Given the description of an element on the screen output the (x, y) to click on. 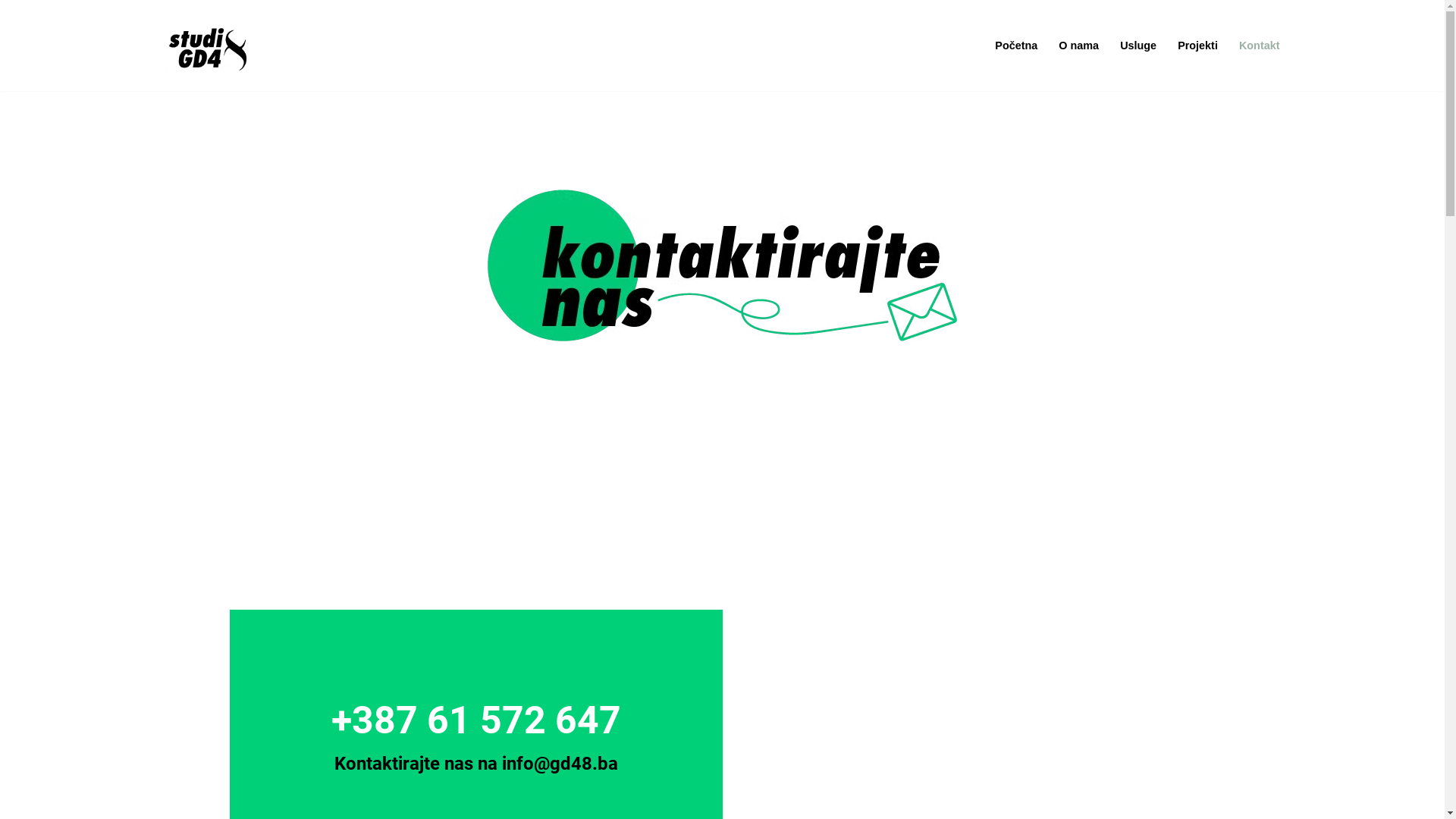
Studio GD48 Element type: hover (207, 49)
O nama Element type: text (1078, 45)
Kontakt Element type: text (1259, 45)
Projekti Element type: text (1197, 45)
Skip to content Element type: text (11, 31)
Usluge Element type: text (1138, 45)
